Given the description of an element on the screen output the (x, y) to click on. 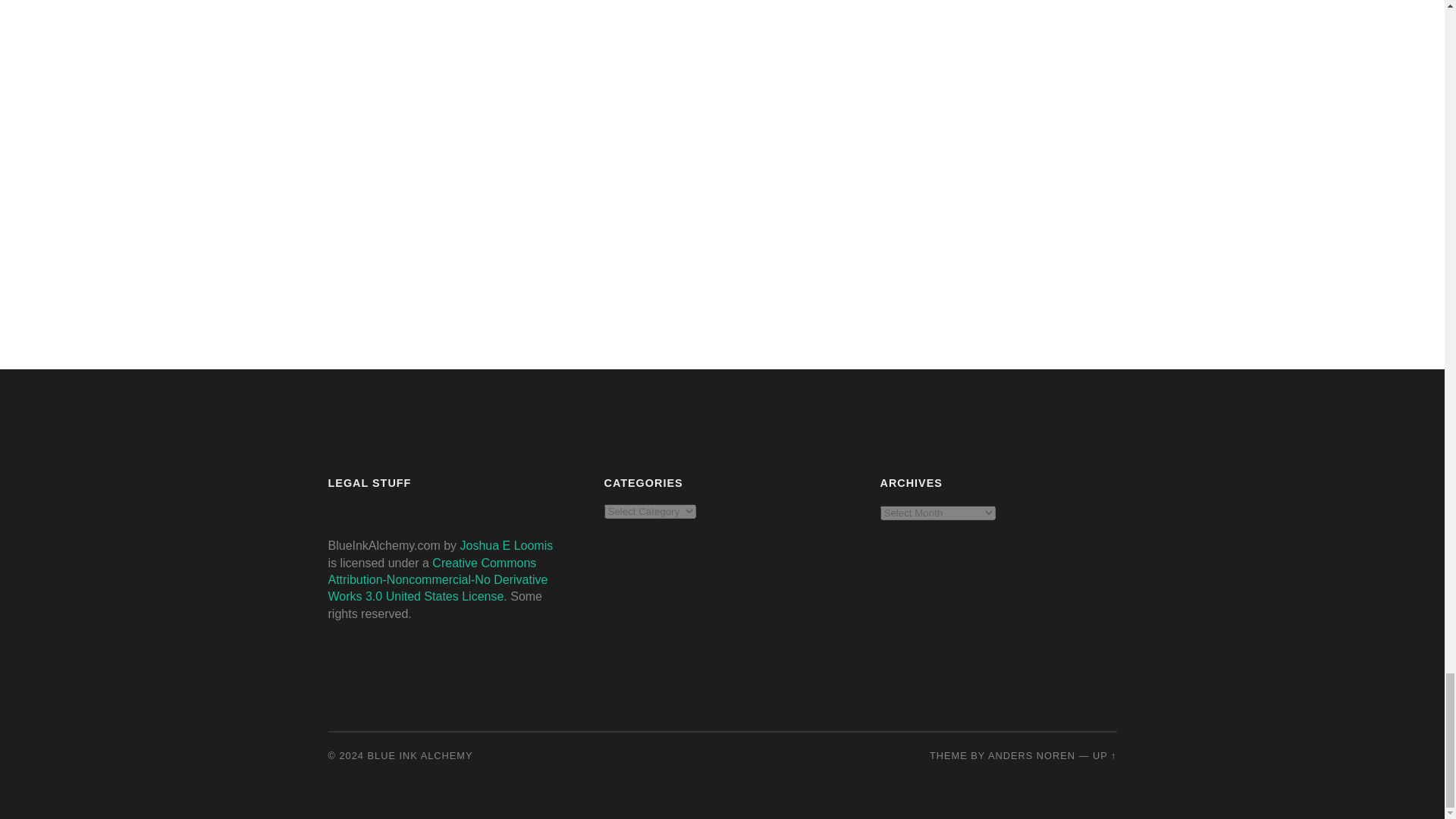
Blue Ink Alchemy (420, 755)
Comment Form (583, 129)
To the top (1104, 755)
